Given the description of an element on the screen output the (x, y) to click on. 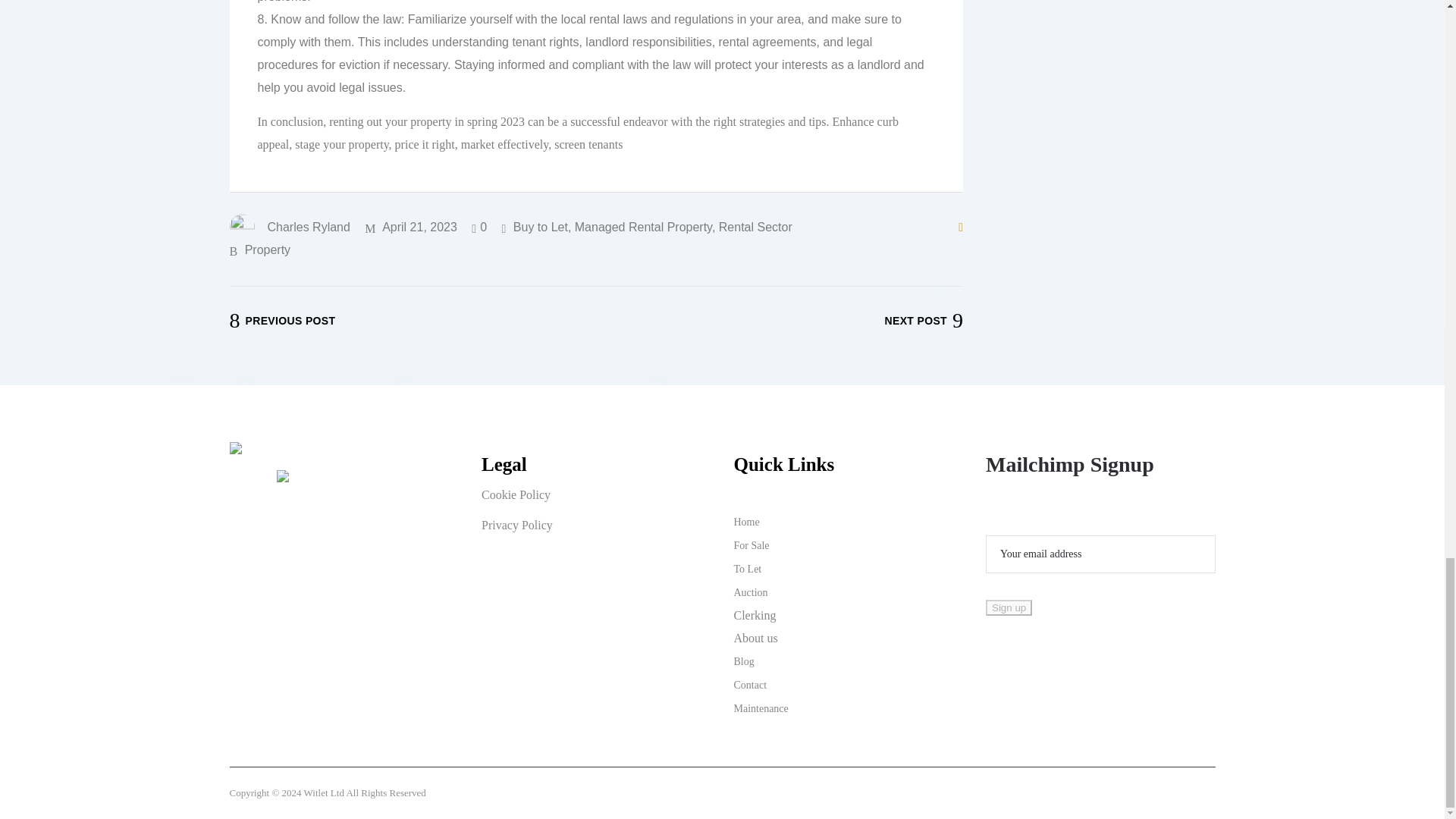
Sign up (1008, 607)
Buy to Let (540, 226)
0 (478, 226)
Like this (478, 226)
Charles Ryland (288, 226)
April 21, 2023 (411, 226)
